Given the description of an element on the screen output the (x, y) to click on. 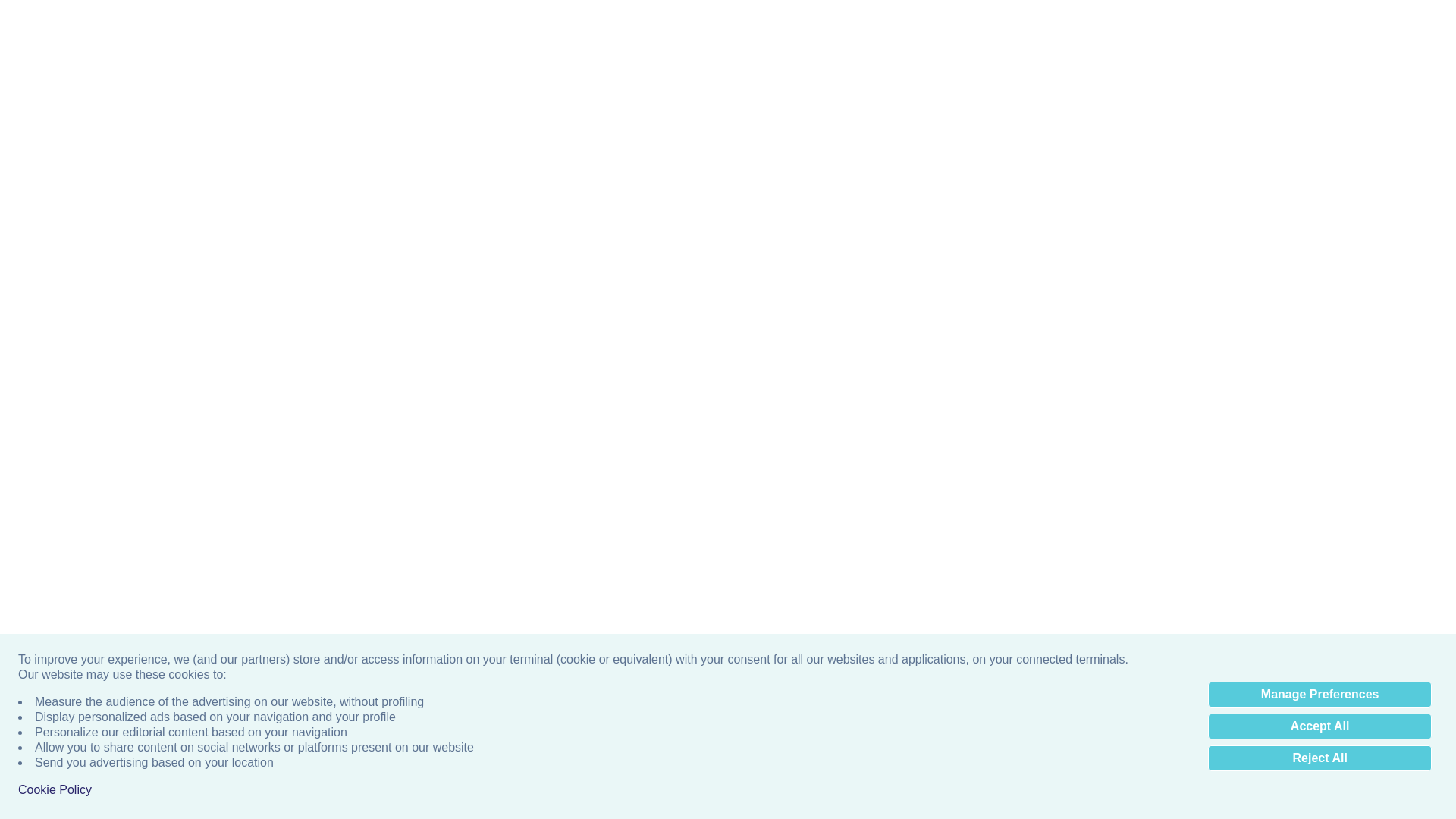
Cookie Policy (54, 789)
Accept All (1319, 726)
Reject All (1319, 758)
Manage Preferences (1319, 694)
